Given the description of an element on the screen output the (x, y) to click on. 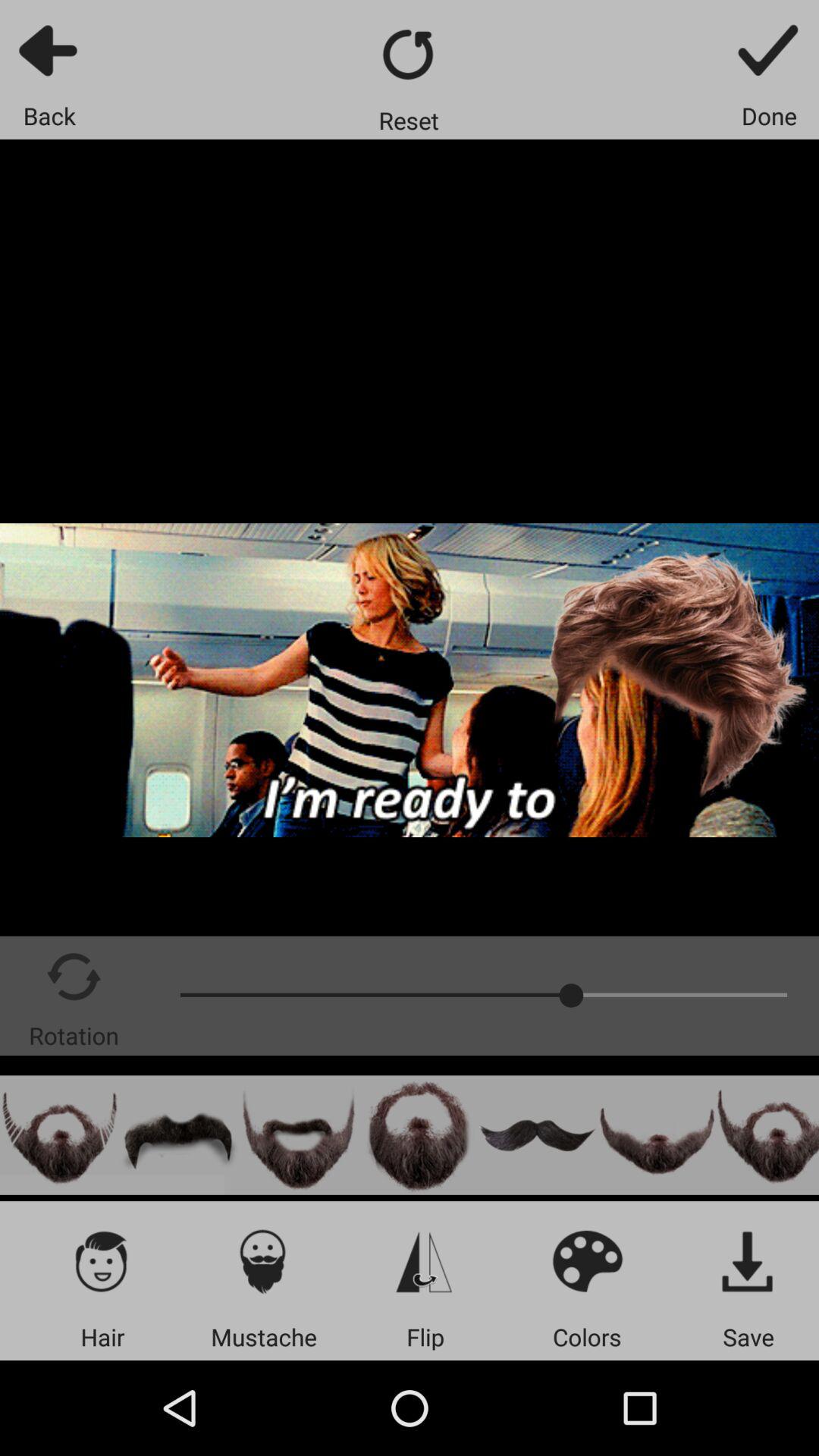
click for mustache options (263, 1260)
